Given the description of an element on the screen output the (x, y) to click on. 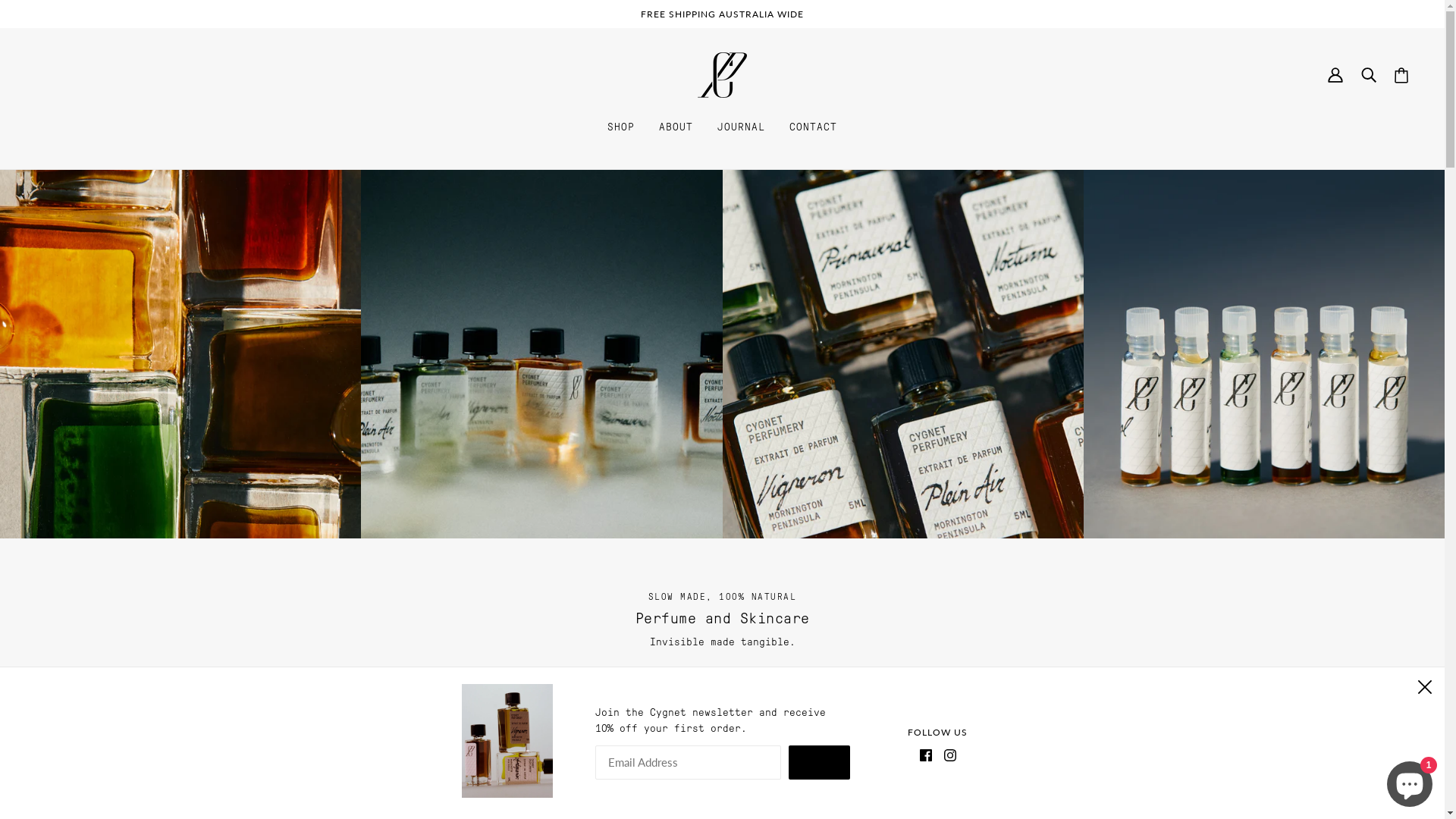
SHOP Element type: text (620, 126)
ENTER Element type: text (819, 762)
ABOUT Element type: text (675, 126)
Shopify online store chat Element type: hover (1409, 780)
Cygnet Perfumery Element type: hover (721, 74)
JOURNAL Element type: text (741, 126)
CONTACT Element type: text (813, 126)
